Given the description of an element on the screen output the (x, y) to click on. 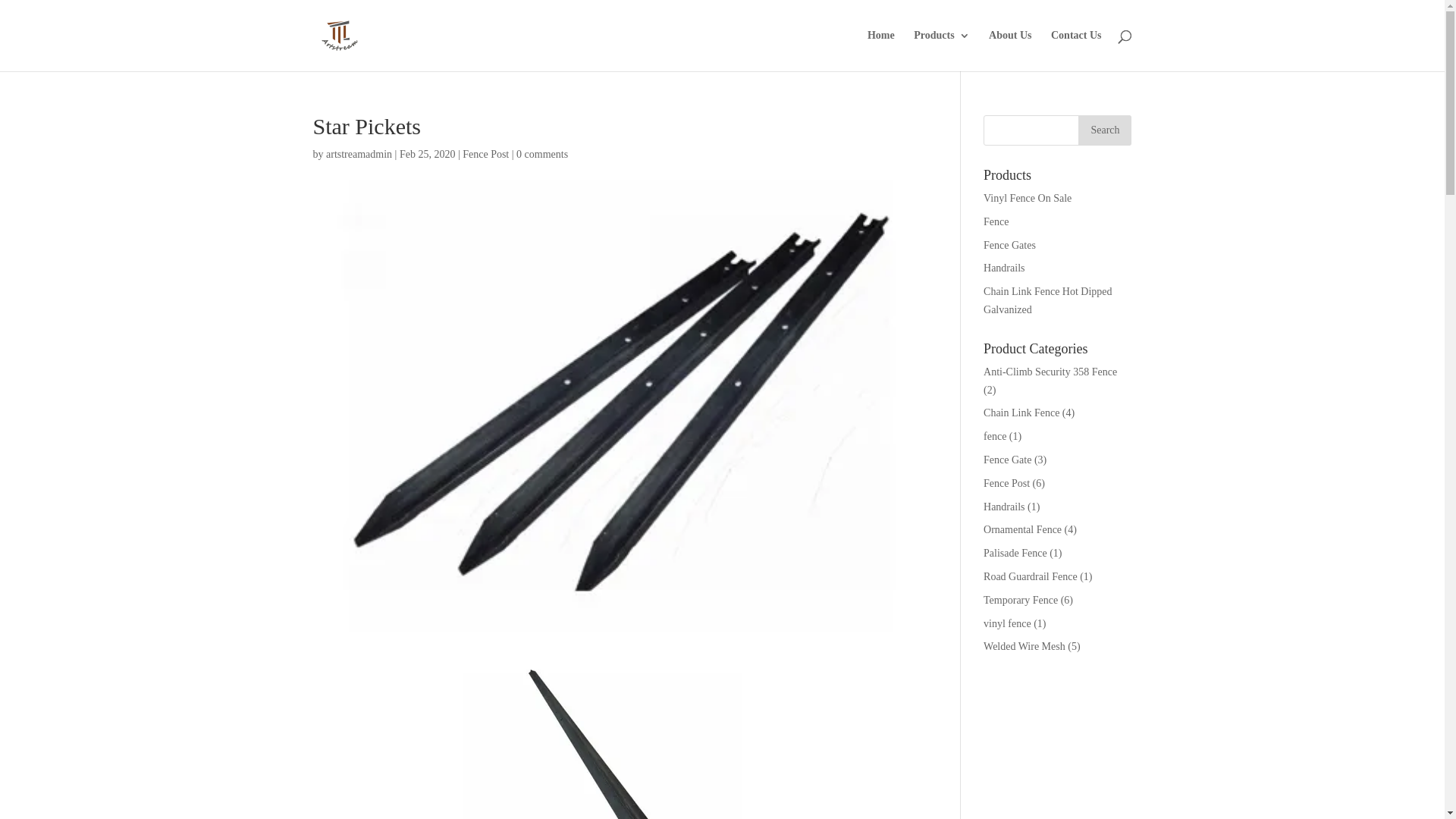
0 comments Element type: text (541, 154)
Search Element type: text (1104, 130)
Home Element type: text (880, 50)
Welded Wire Mesh Element type: text (1024, 646)
Fence Gates Element type: text (1009, 245)
Products Element type: text (941, 50)
Fence Post Element type: text (485, 154)
Road Guardrail Fence Element type: text (1030, 576)
vinyl fence Element type: text (1007, 623)
Chain Link Fence Element type: text (1021, 412)
Handrails Element type: text (1003, 267)
Fence Element type: text (995, 221)
Anti-Climb Security 358 Fence Element type: text (1050, 371)
Contact Us Element type: text (1076, 50)
Chain Link Fence Hot Dipped Galvanized Element type: text (1047, 300)
Temporary Fence Element type: text (1020, 599)
Fence Gate Element type: text (1007, 459)
fence Element type: text (994, 436)
Handrails Element type: text (1003, 506)
About Us Element type: text (1009, 50)
Vinyl Fence On Sale Element type: text (1027, 197)
Fence Post Element type: text (1006, 483)
Palisade Fence Element type: text (1015, 552)
Ornamental Fence Element type: text (1022, 529)
artstreamadmin Element type: text (359, 154)
